Given the description of an element on the screen output the (x, y) to click on. 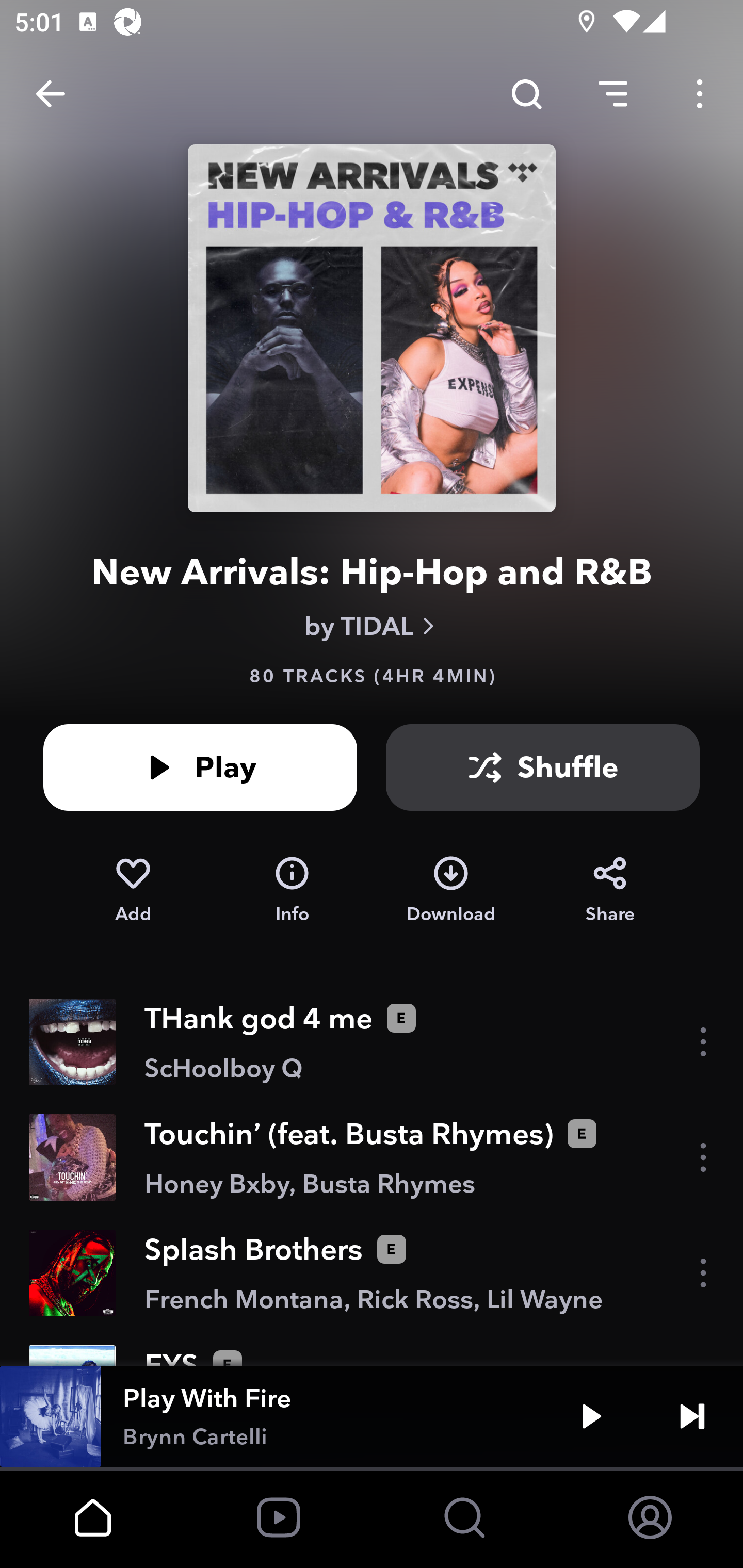
Back (50, 93)
Search (525, 93)
Sorting (612, 93)
Options (699, 93)
by TIDAL (371, 625)
Play (200, 767)
Shuffle (542, 767)
Add (132, 890)
Info (291, 890)
Download (450, 890)
Share (609, 890)
THank god 4 me ScHoolboy Q (371, 1041)
Play With Fire Brynn Cartelli Play (371, 1416)
Play (590, 1416)
